Given the description of an element on the screen output the (x, y) to click on. 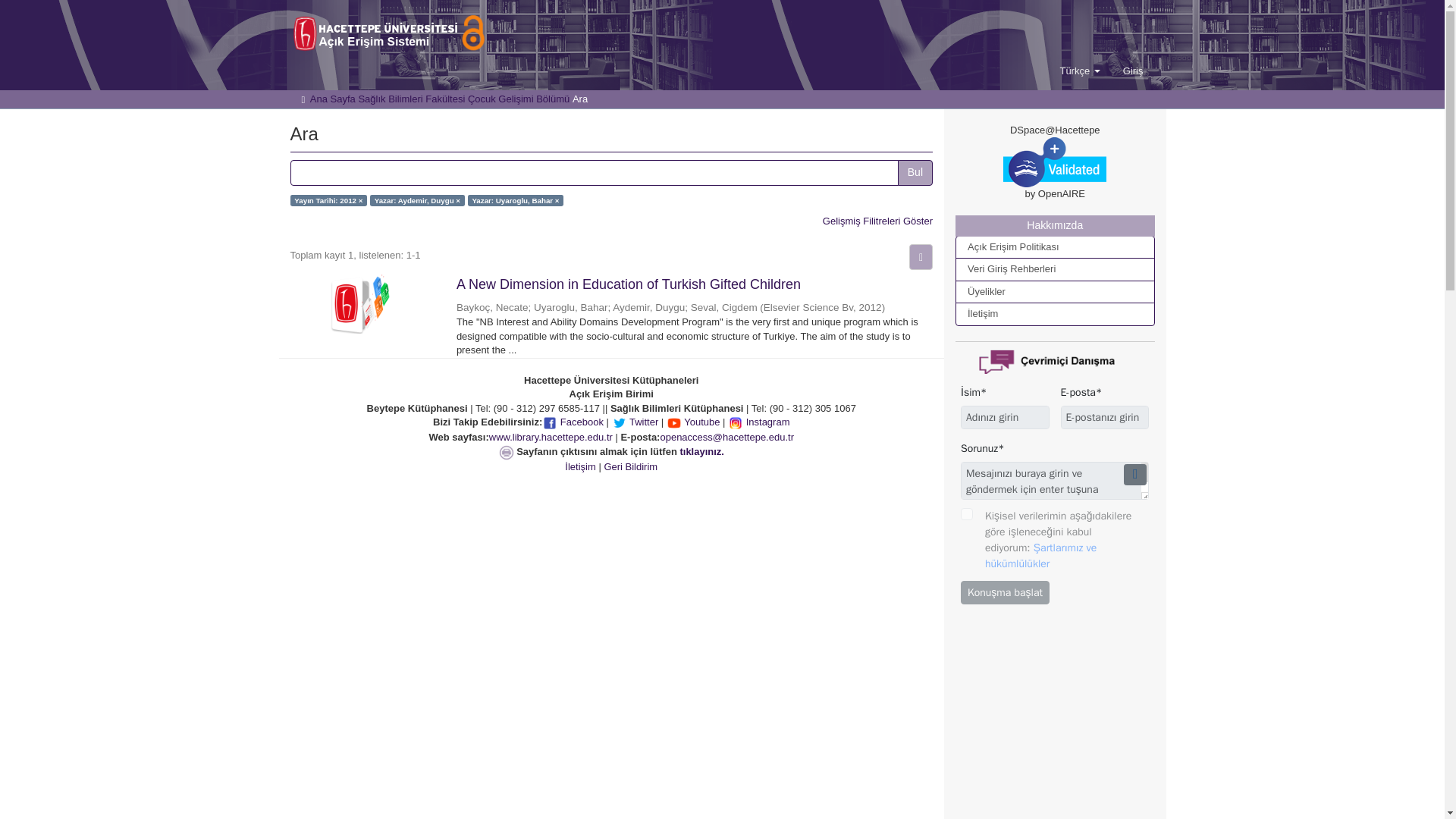
Bul (915, 172)
Ana Sayfa (332, 98)
